Given the description of an element on the screen output the (x, y) to click on. 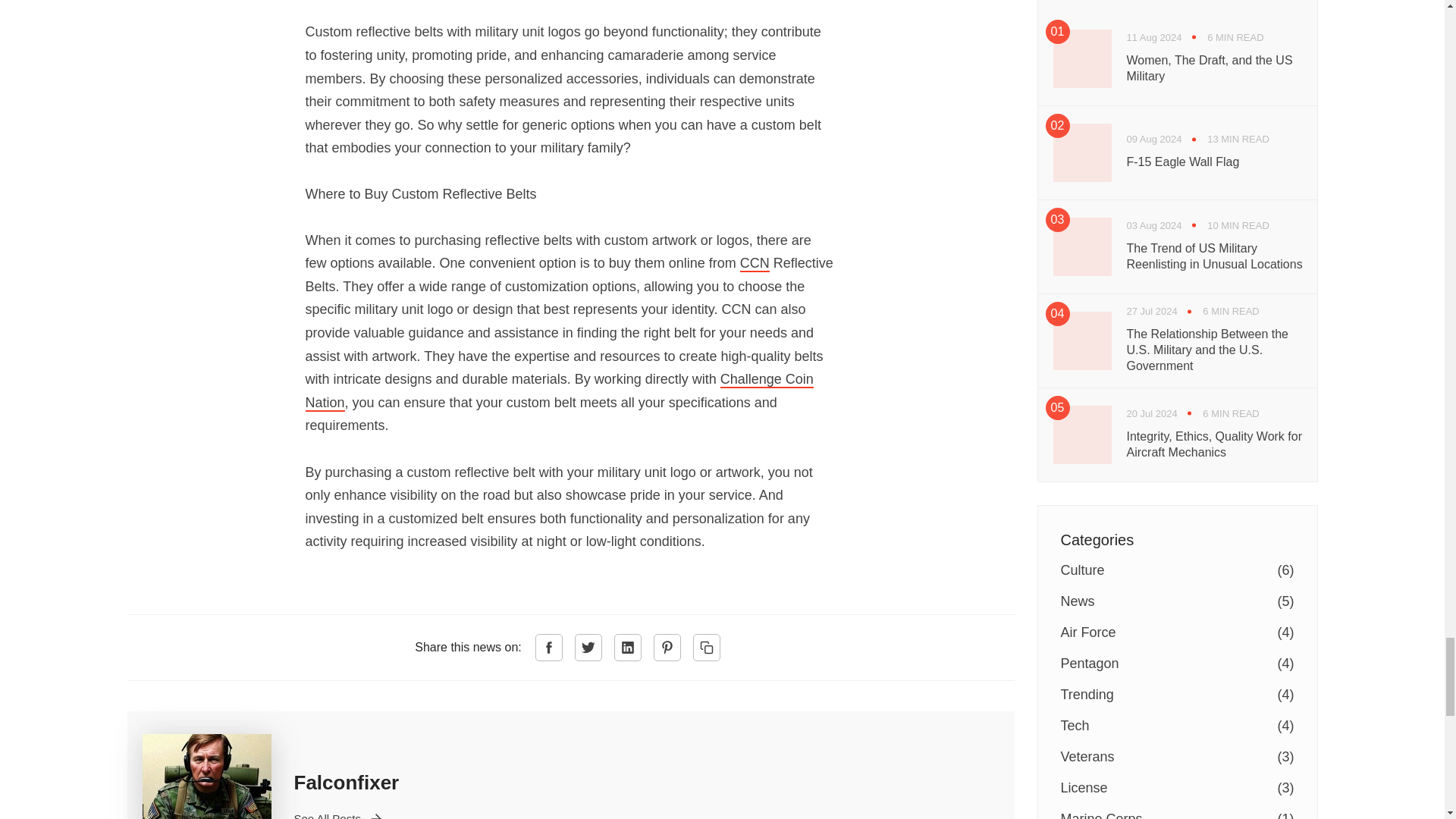
See All Posts (339, 814)
Falconfixer (346, 782)
Challenge Coin Nation (558, 391)
CCN (754, 263)
